Given the description of an element on the screen output the (x, y) to click on. 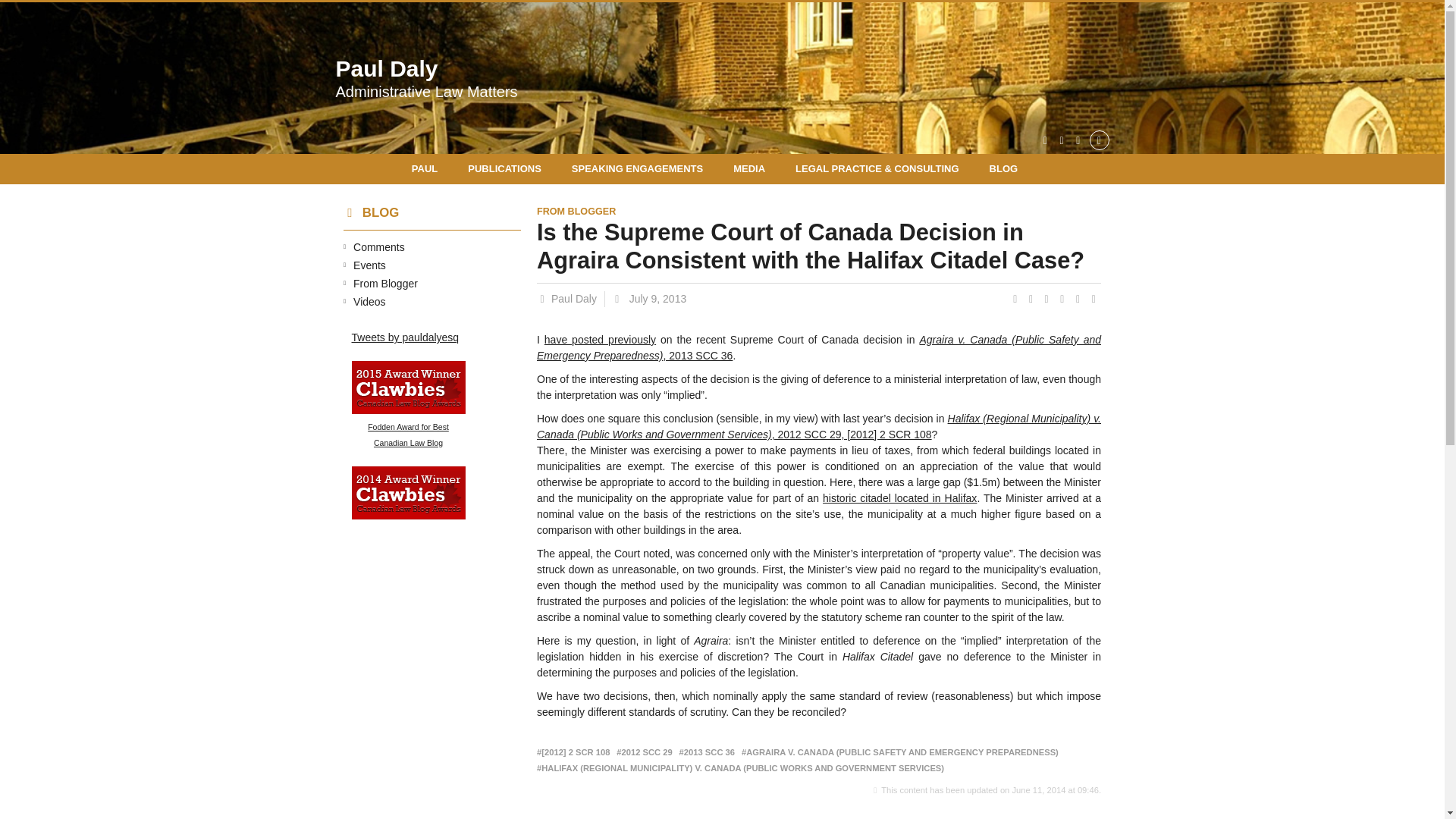
Share on Facebook (1031, 298)
PUBLICATIONS (504, 168)
RSS Email Alert (1079, 140)
PAUL (432, 168)
Events (370, 265)
Date (648, 299)
Videos (425, 77)
From Blogger (370, 301)
BLOG (408, 405)
Par (386, 283)
Save via Evernote (1003, 168)
SPEAKING ENGAGEMENTS (571, 299)
MEDIA (1079, 298)
